Given the description of an element on the screen output the (x, y) to click on. 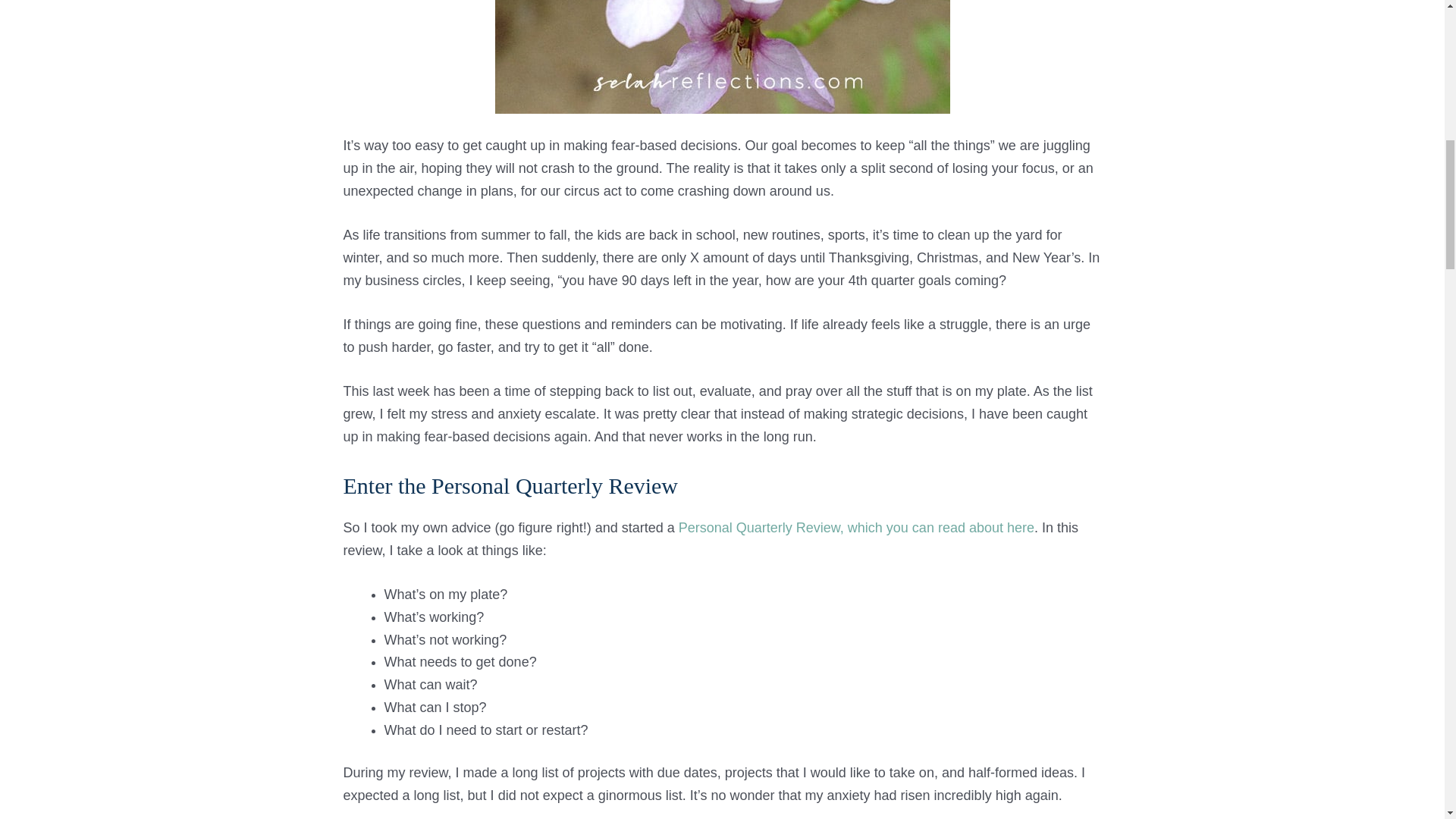
Personal Quarterly Review, which you can read about here (854, 527)
